Given the description of an element on the screen output the (x, y) to click on. 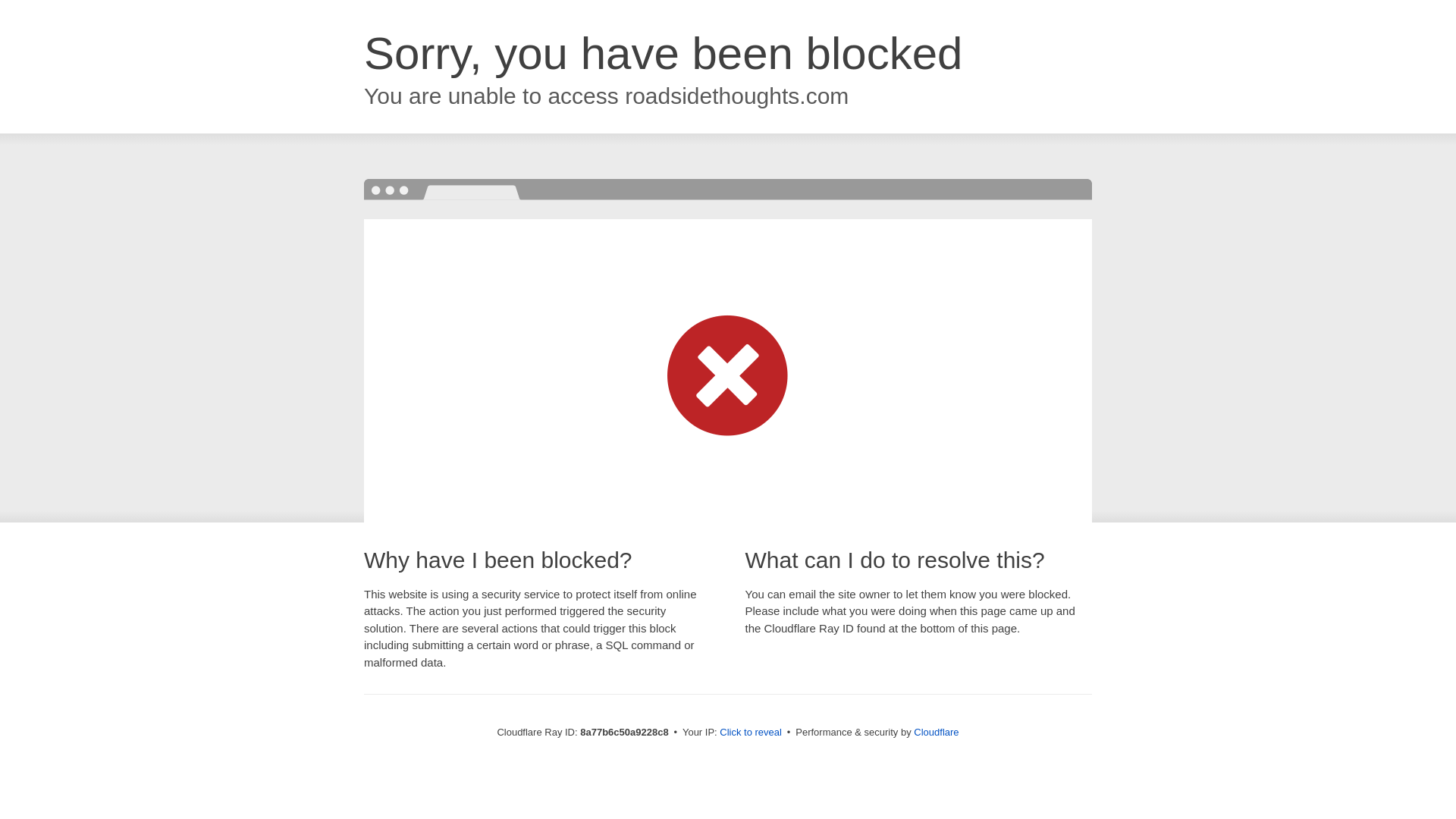
Click to reveal (750, 732)
Cloudflare (936, 731)
